Given the description of an element on the screen output the (x, y) to click on. 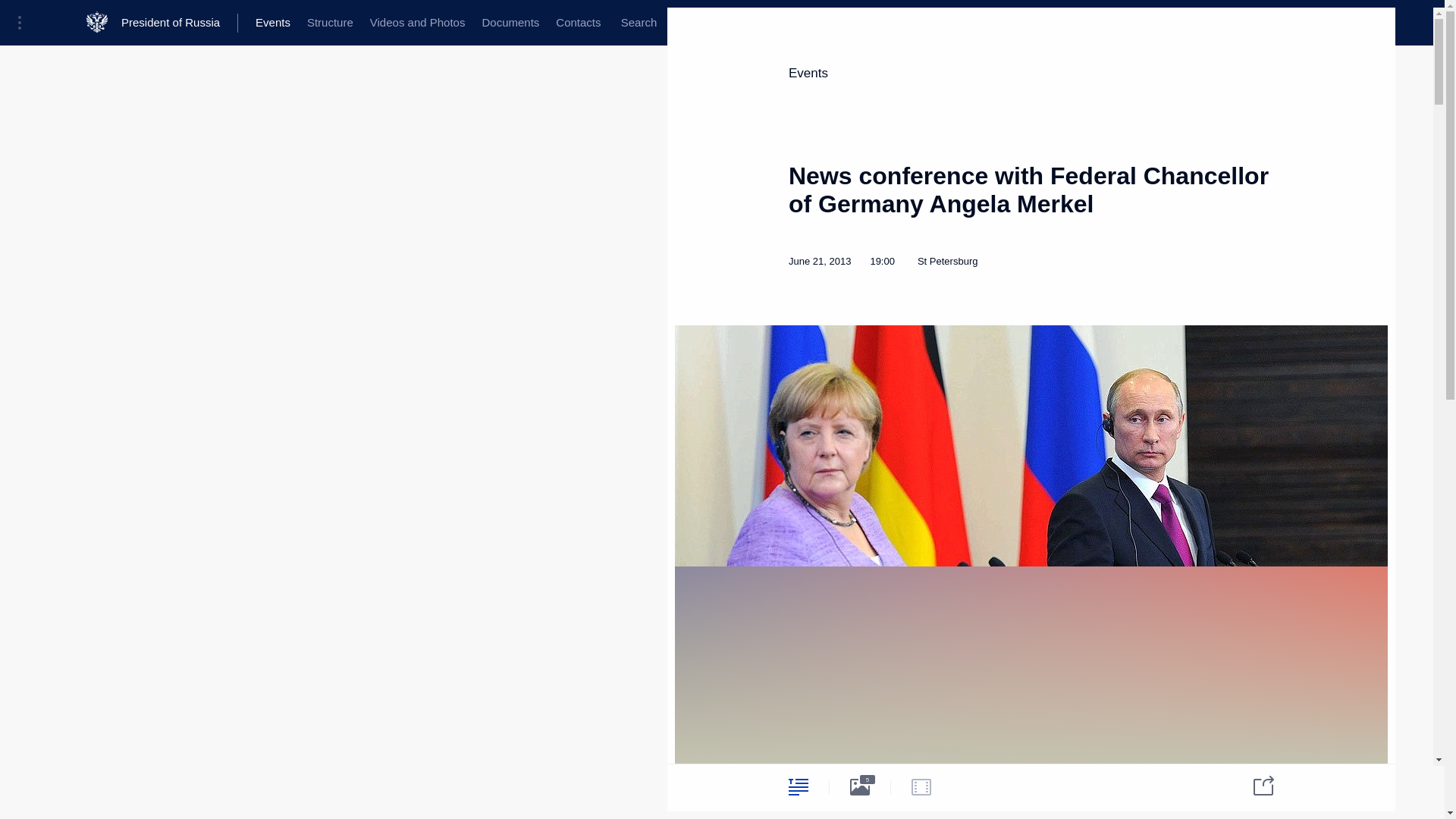
Events (272, 22)
Structure (329, 22)
Documents (510, 22)
Global website search (638, 22)
President of Russia (179, 22)
Video (921, 786)
Text (798, 786)
Photo (859, 786)
Portal Menu (24, 22)
Events (808, 73)
Contacts (577, 22)
Videos and Photos (417, 22)
Share (1253, 784)
Search (638, 22)
